Given the description of an element on the screen output the (x, y) to click on. 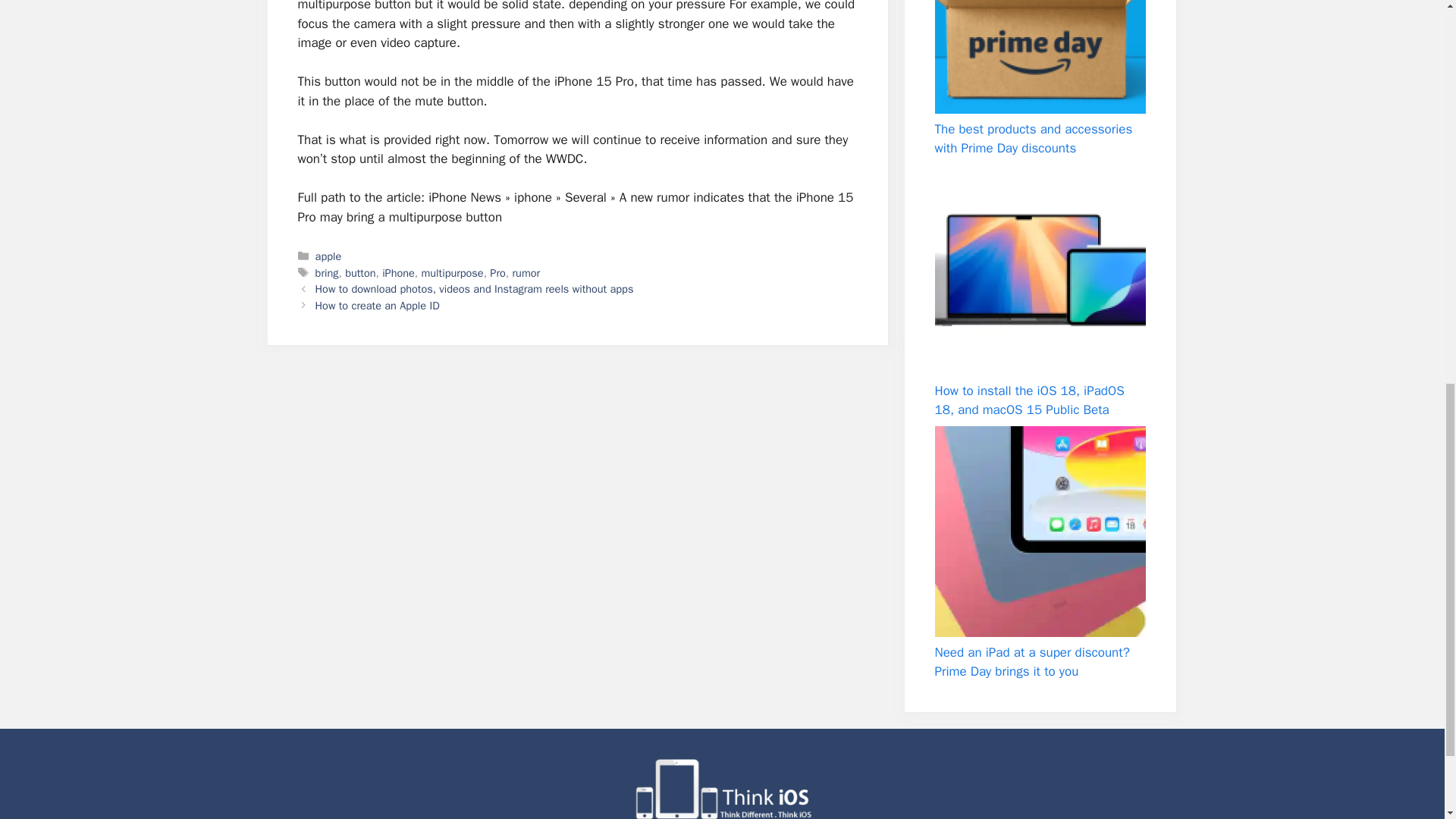
Scroll back to top (1406, 720)
The best products and accessories with Prime Day discounts (1033, 139)
apple (328, 255)
Need an iPad at a super discount? Prime Day brings it to you (1039, 531)
Need an iPad at a super discount? Prime Day brings it to you (1031, 662)
The best products and accessories with Prime Day discounts (1039, 56)
iPhone (397, 273)
How to create an Apple ID (377, 305)
button (360, 273)
multipurpose (452, 273)
Pro (497, 273)
bring (327, 273)
